Given the description of an element on the screen output the (x, y) to click on. 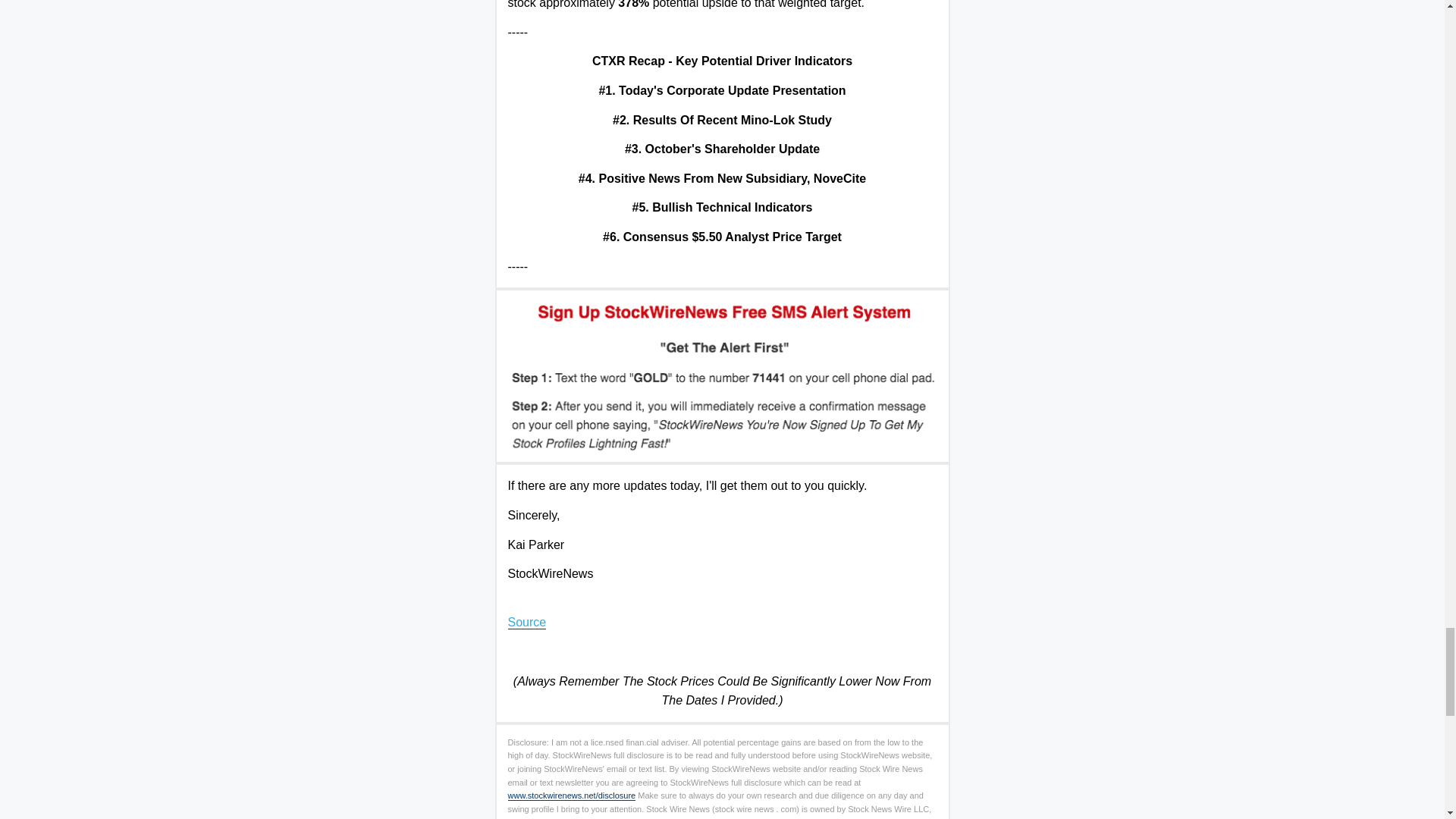
Source (527, 622)
